Given the description of an element on the screen output the (x, y) to click on. 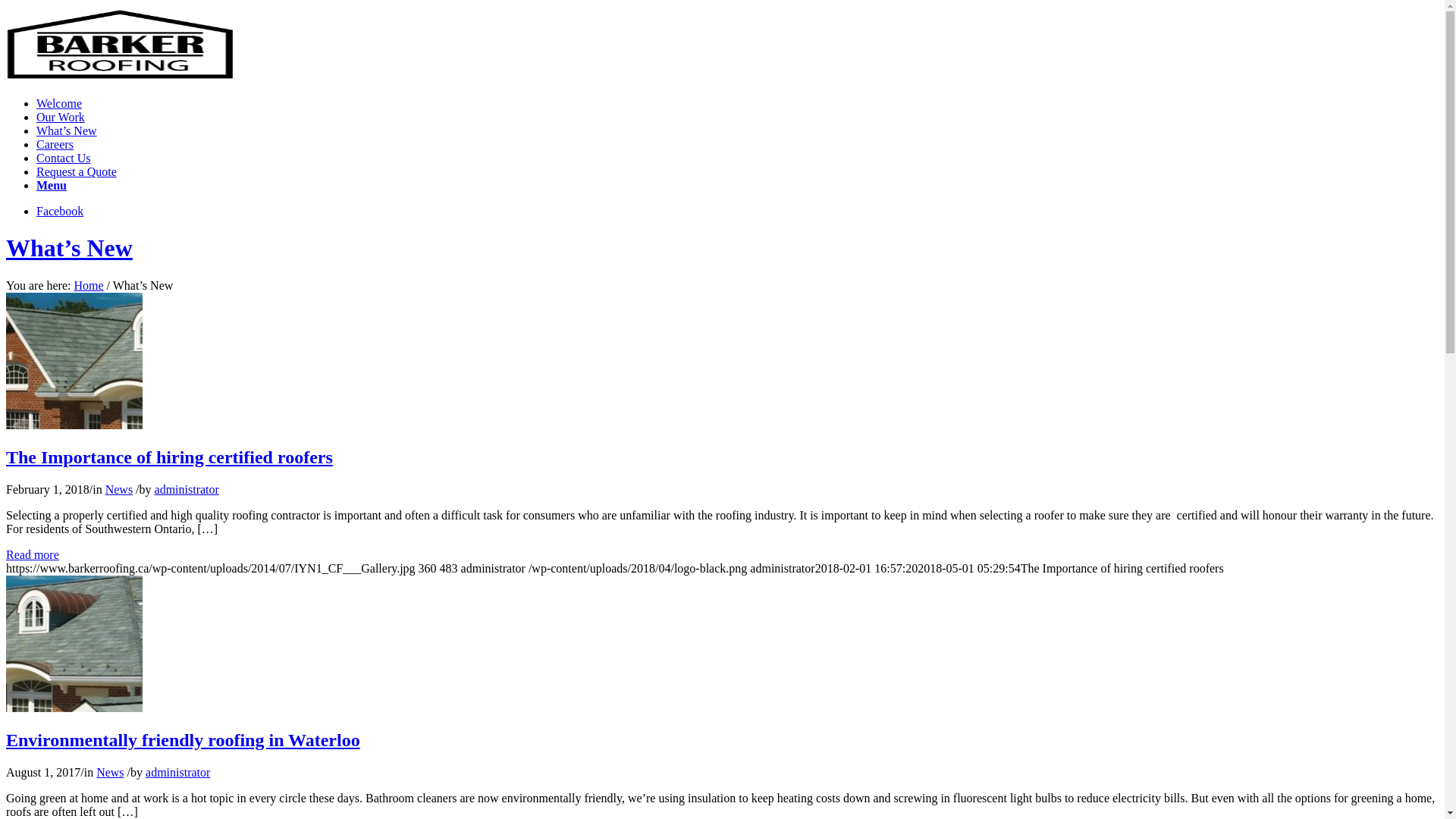
administrator Element type: text (186, 489)
Environmentally friendly roofing in Waterloo Element type: text (183, 739)
Facebook Element type: text (59, 210)
Read more Element type: text (32, 554)
Our Work Element type: text (60, 116)
The Importance of hiring certified roofers Element type: text (169, 457)
News Element type: text (118, 489)
Contact Us Element type: text (63, 157)
Careers Element type: text (54, 144)
The Importance of hiring certified roofers Element type: hover (74, 424)
Menu Element type: text (51, 184)
Environmentally friendly roofing in Waterloo Element type: hover (74, 707)
Welcome Element type: text (58, 103)
Request a Quote Element type: text (76, 171)
Home Element type: text (88, 285)
administrator Element type: text (177, 771)
News Element type: text (109, 771)
